Given the description of an element on the screen output the (x, y) to click on. 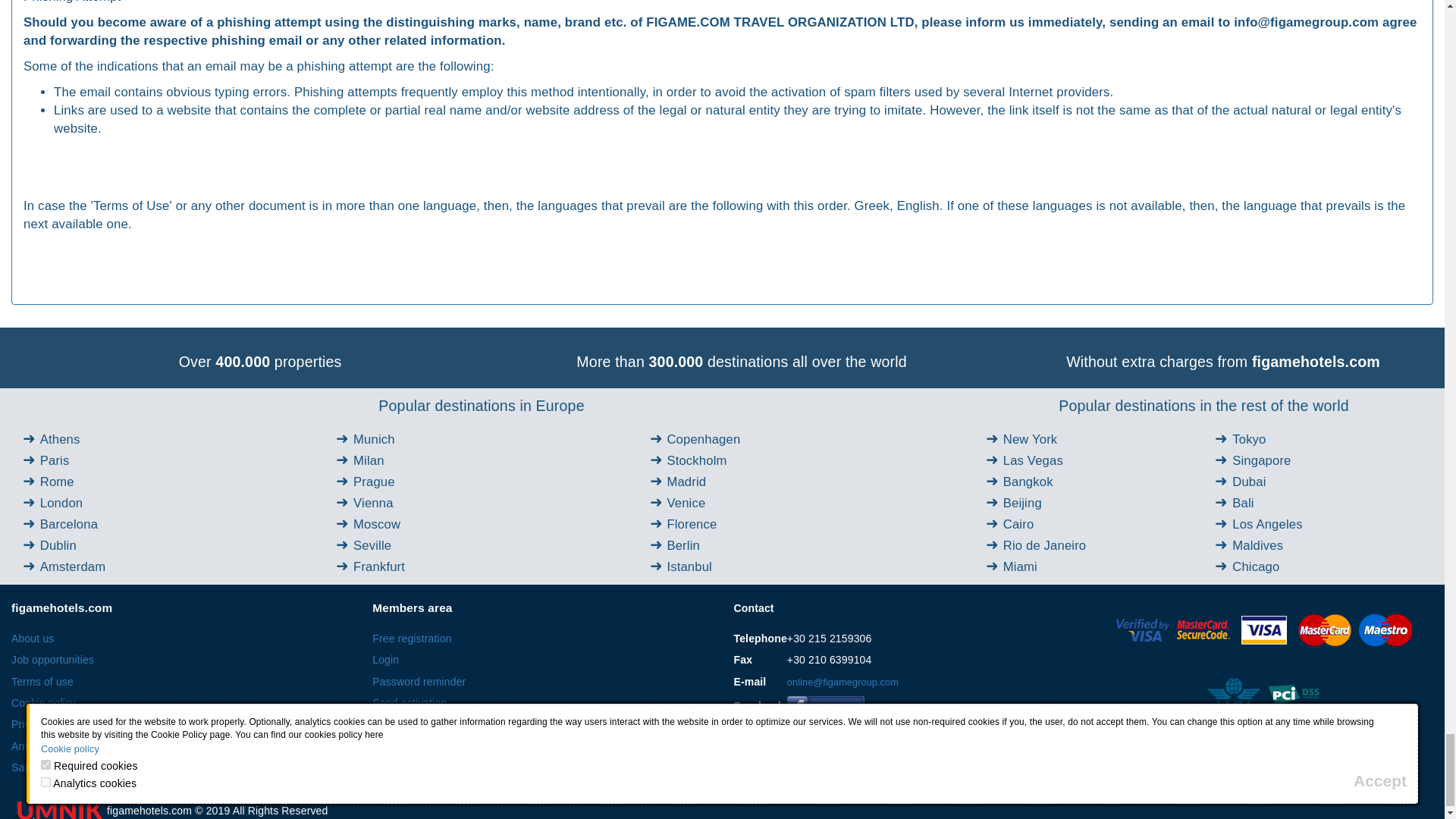
Florence (691, 523)
Frankfurt (378, 566)
Paris (54, 460)
Venice (685, 503)
Athens (60, 439)
London (61, 503)
New York (1030, 439)
Facebook (825, 706)
Barcelona (68, 523)
Istanbul (688, 566)
Munich (373, 439)
Stockholm (696, 460)
Berlin (682, 545)
Moscow (376, 523)
Beijing (1022, 503)
